Given the description of an element on the screen output the (x, y) to click on. 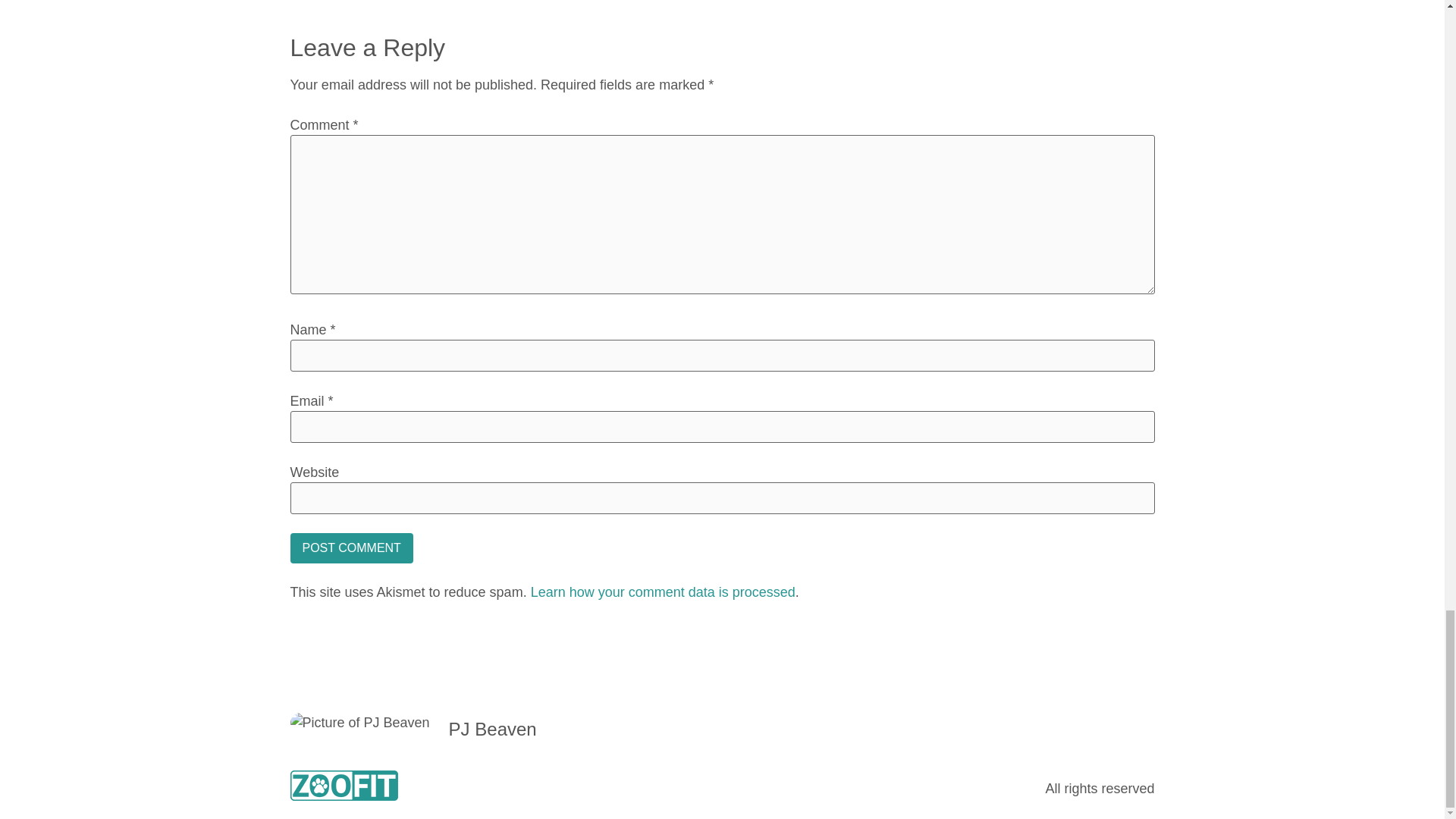
Post Comment (350, 548)
Learn how your comment data is processed (662, 591)
Post Comment (350, 548)
